Given the description of an element on the screen output the (x, y) to click on. 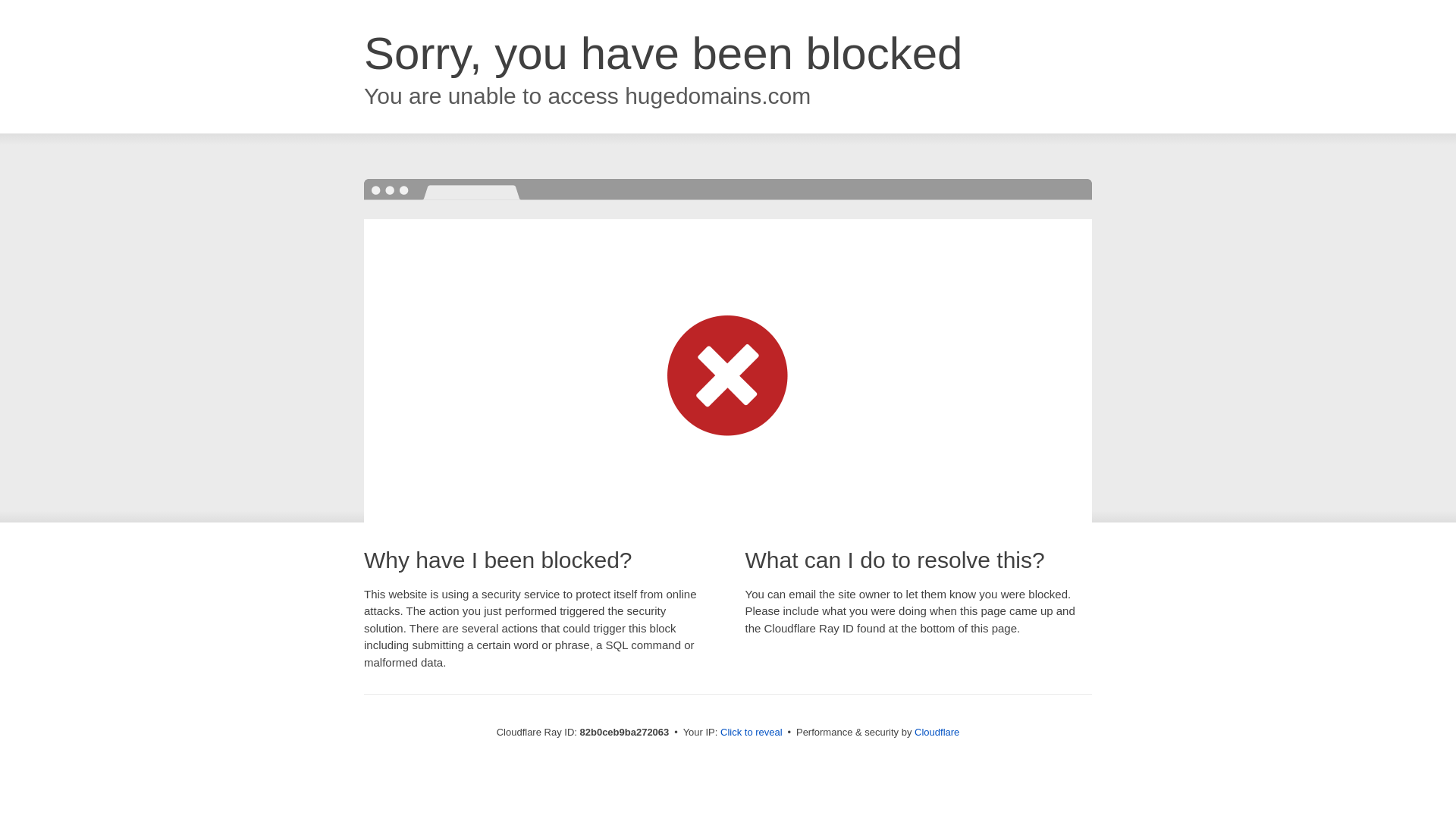
Click to reveal Element type: text (751, 732)
Cloudflare Element type: text (936, 731)
